Given the description of an element on the screen output the (x, y) to click on. 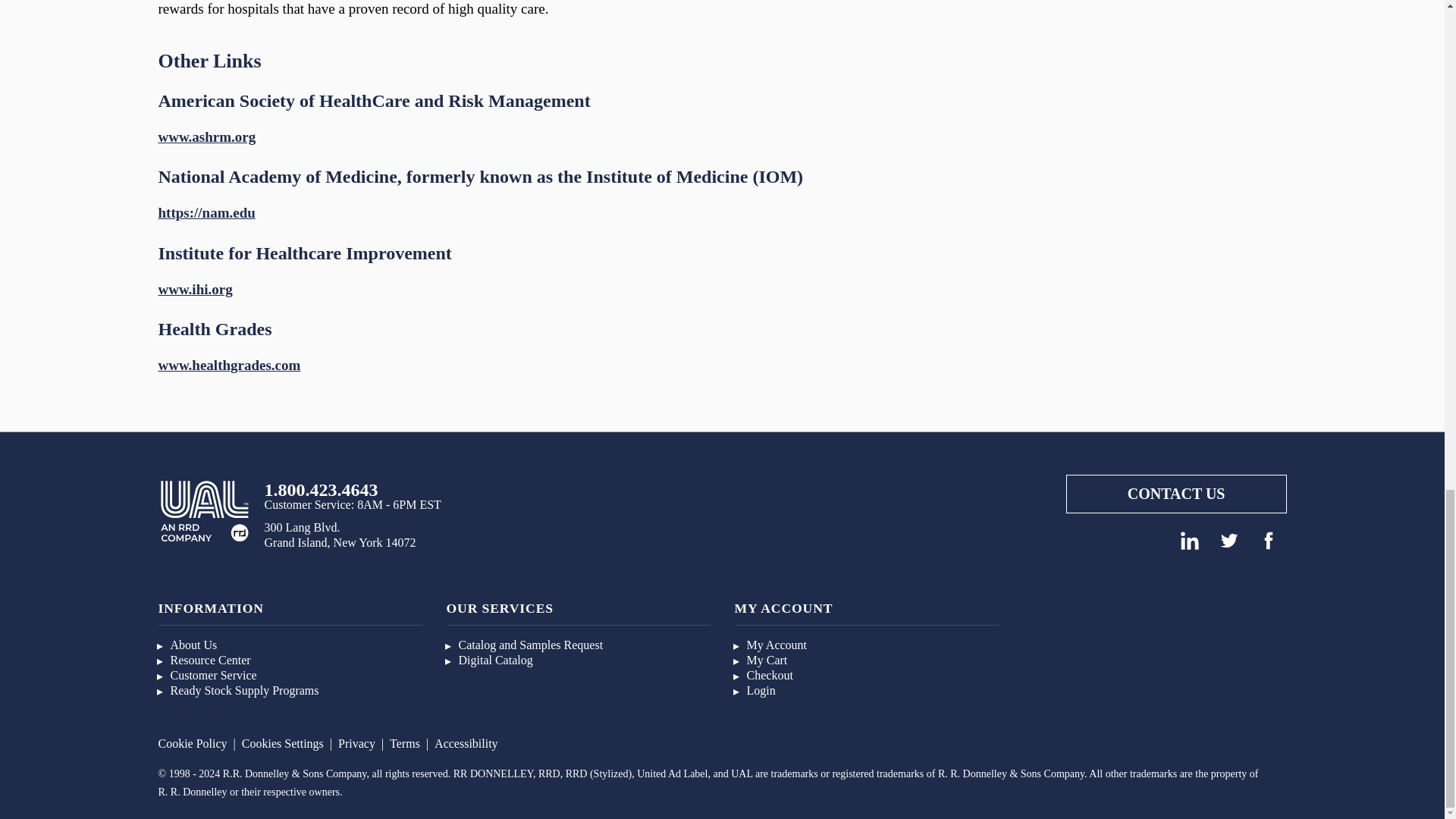
TM (202, 510)
